Given the description of an element on the screen output the (x, y) to click on. 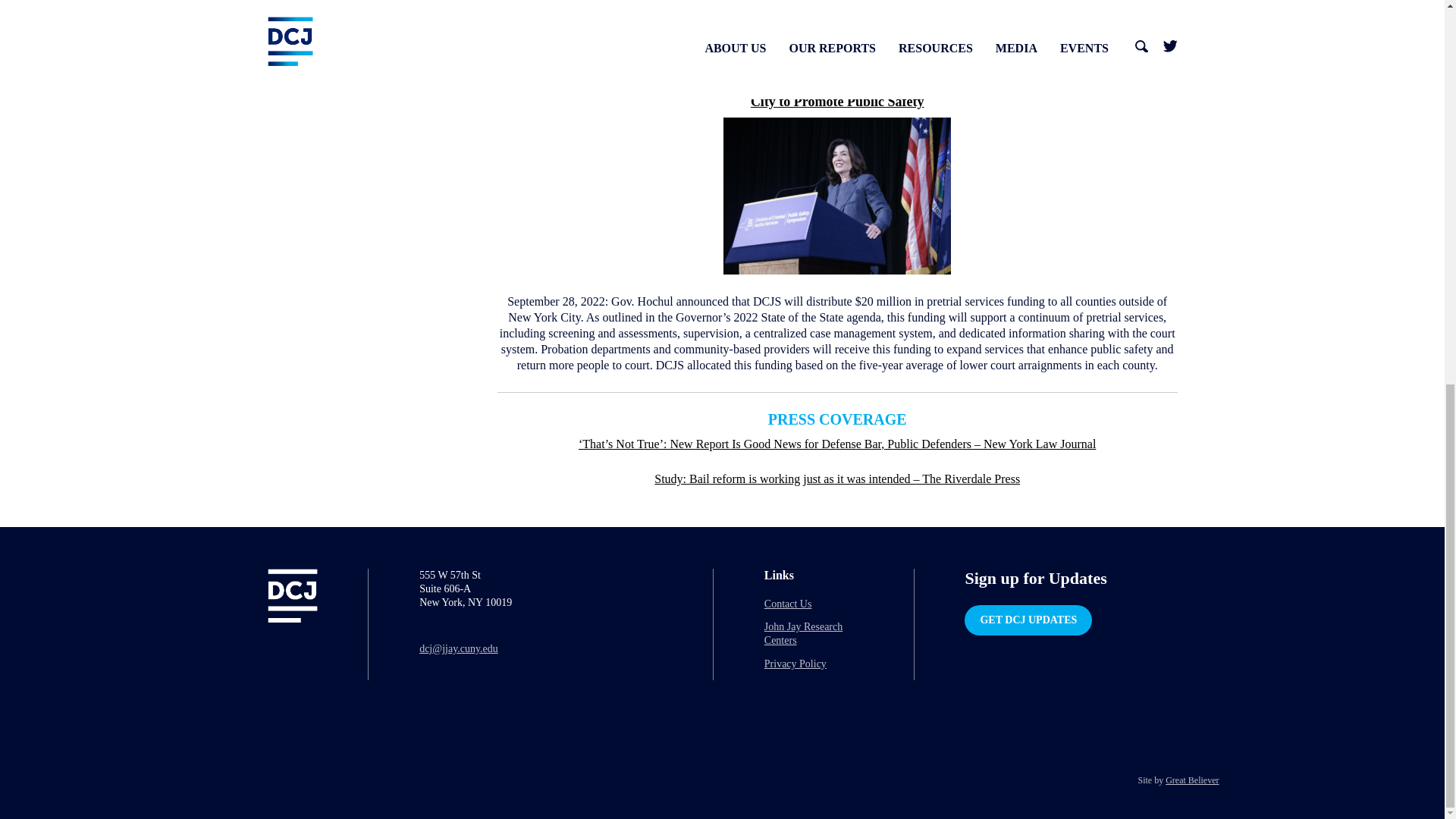
Office of Court Administration (834, 30)
DCJS (660, 38)
Contact Us (788, 603)
